Given the description of an element on the screen output the (x, y) to click on. 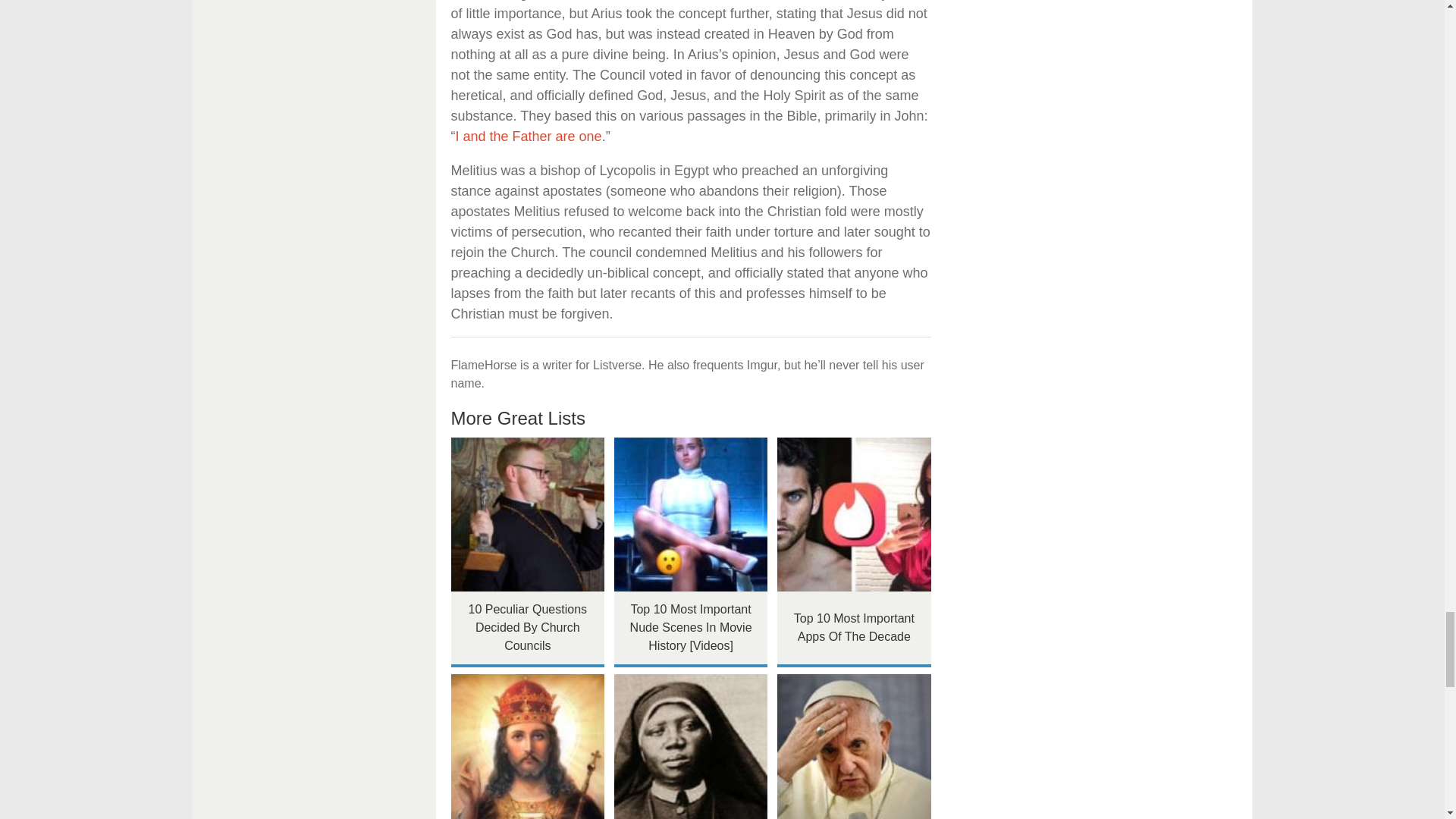
Top 10 Most Important Apps Of The Decade (854, 514)
10 Peculiar Questions Decided By Church Councils (526, 514)
